Given the description of an element on the screen output the (x, y) to click on. 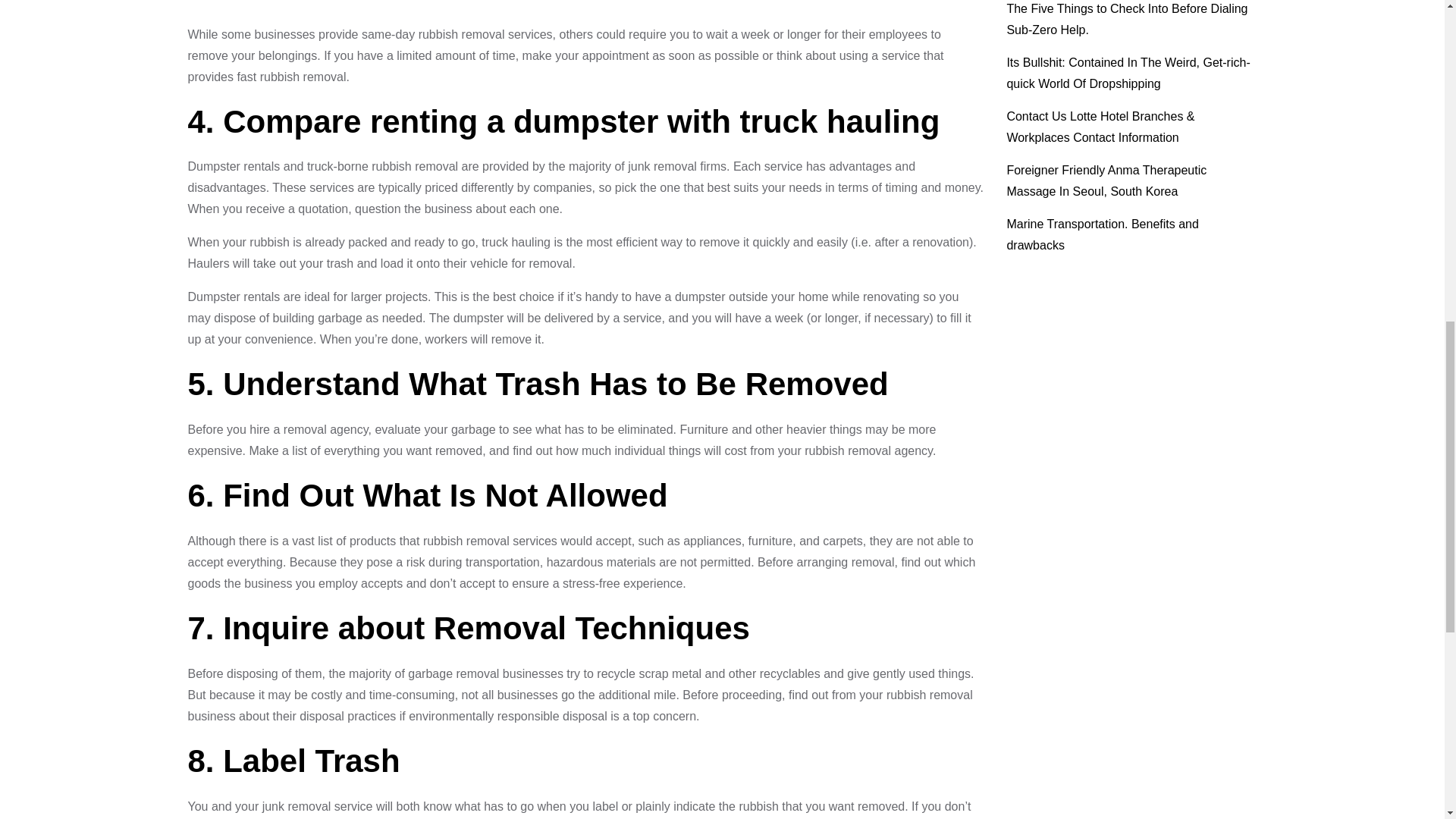
Marine Transportation. Benefits and drawbacks (1102, 234)
The Five Things to Check Into Before Dialing Sub-Zero Help. (1126, 19)
